Given the description of an element on the screen output the (x, y) to click on. 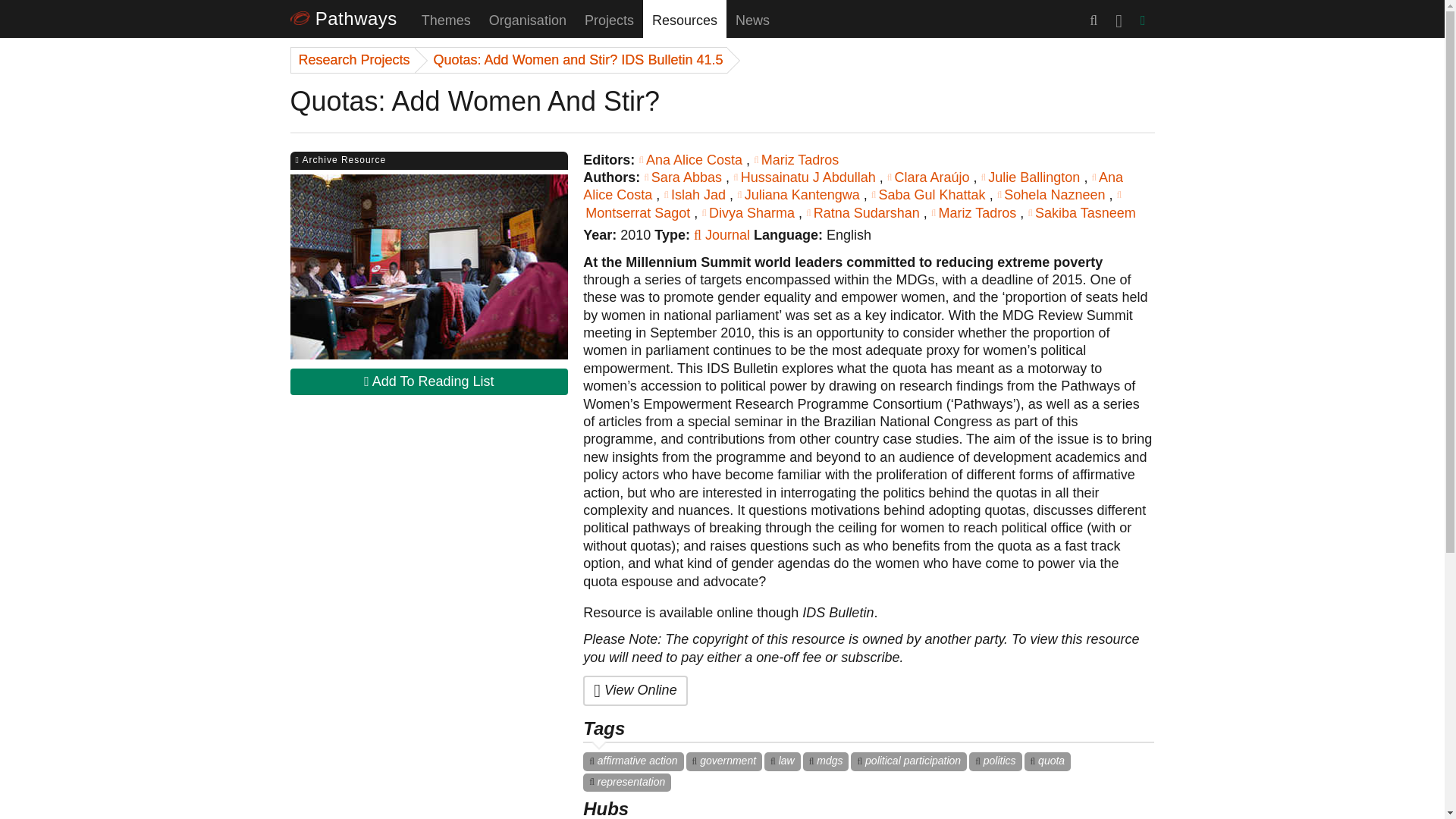
affirmative action (632, 761)
Projects (609, 18)
Ana Alice Costa (692, 159)
Hussainatu J Abdullah (806, 177)
News (752, 18)
Montserrat Sagot (852, 203)
Sakiba Tasneem (1081, 212)
Mariz Tadros (796, 159)
View Online (635, 690)
government (723, 761)
Add To Reading List (428, 381)
Sara Abbas (684, 177)
Sohela Nazneen (1053, 194)
Themes (446, 18)
Mariz Tadros (975, 212)
